Given the description of an element on the screen output the (x, y) to click on. 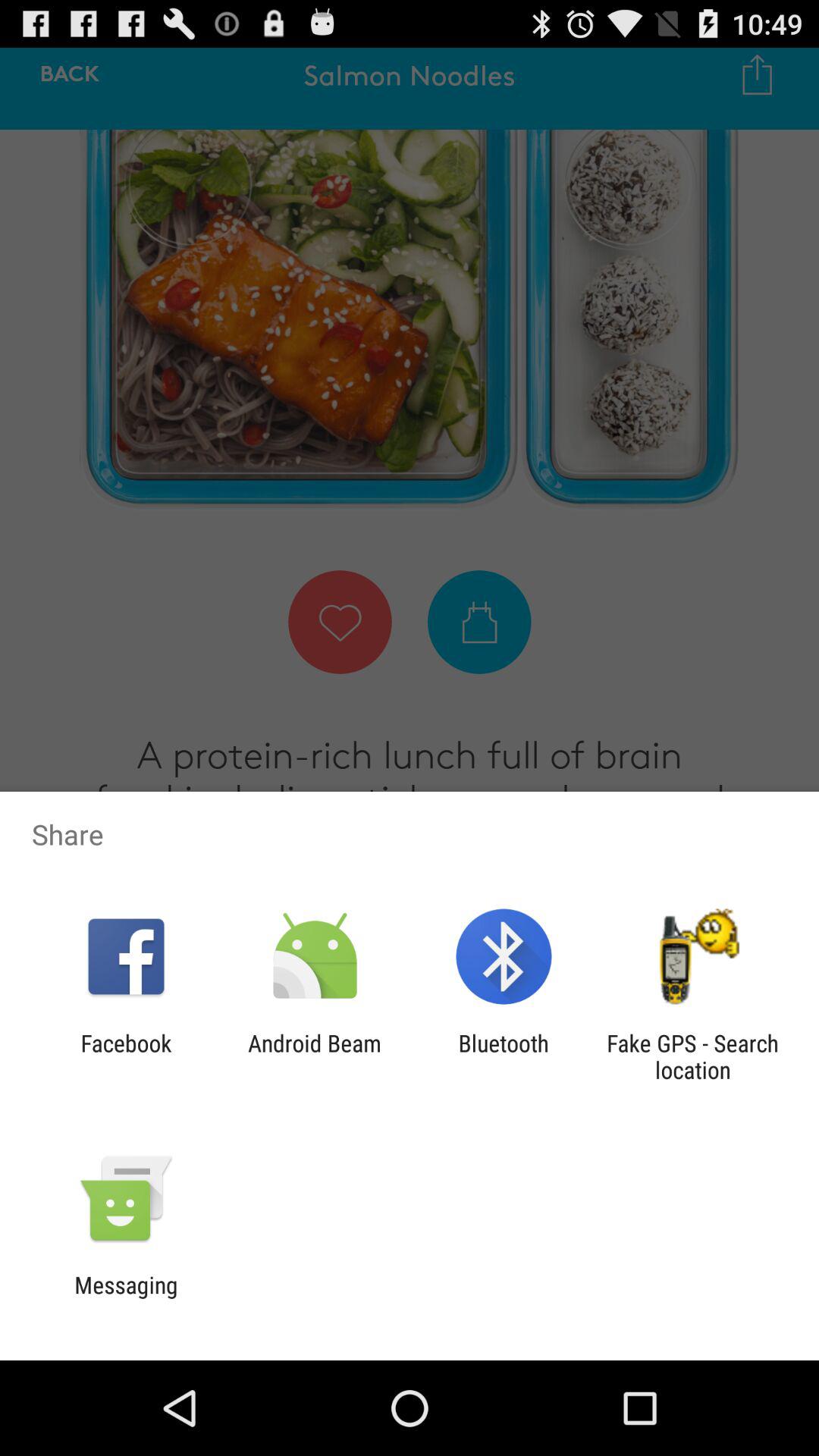
flip until facebook item (125, 1056)
